Given the description of an element on the screen output the (x, y) to click on. 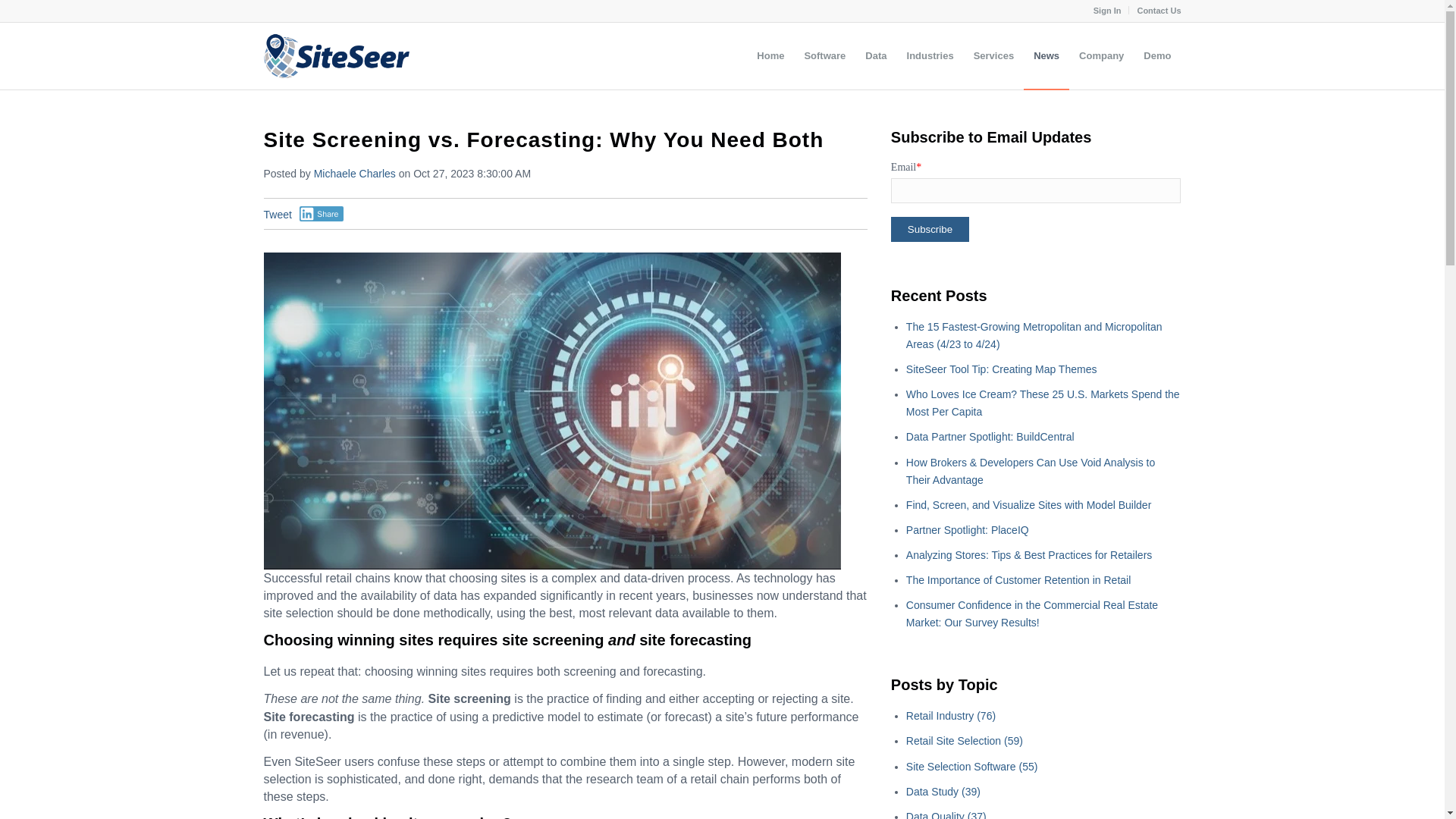
Company (1101, 55)
Contact Us (1158, 10)
Sign In (1107, 10)
Michaele Charles (355, 173)
Services (994, 55)
Siteseer (336, 55)
Subscribe (930, 229)
Software (824, 55)
Industries (929, 55)
